Given the description of an element on the screen output the (x, y) to click on. 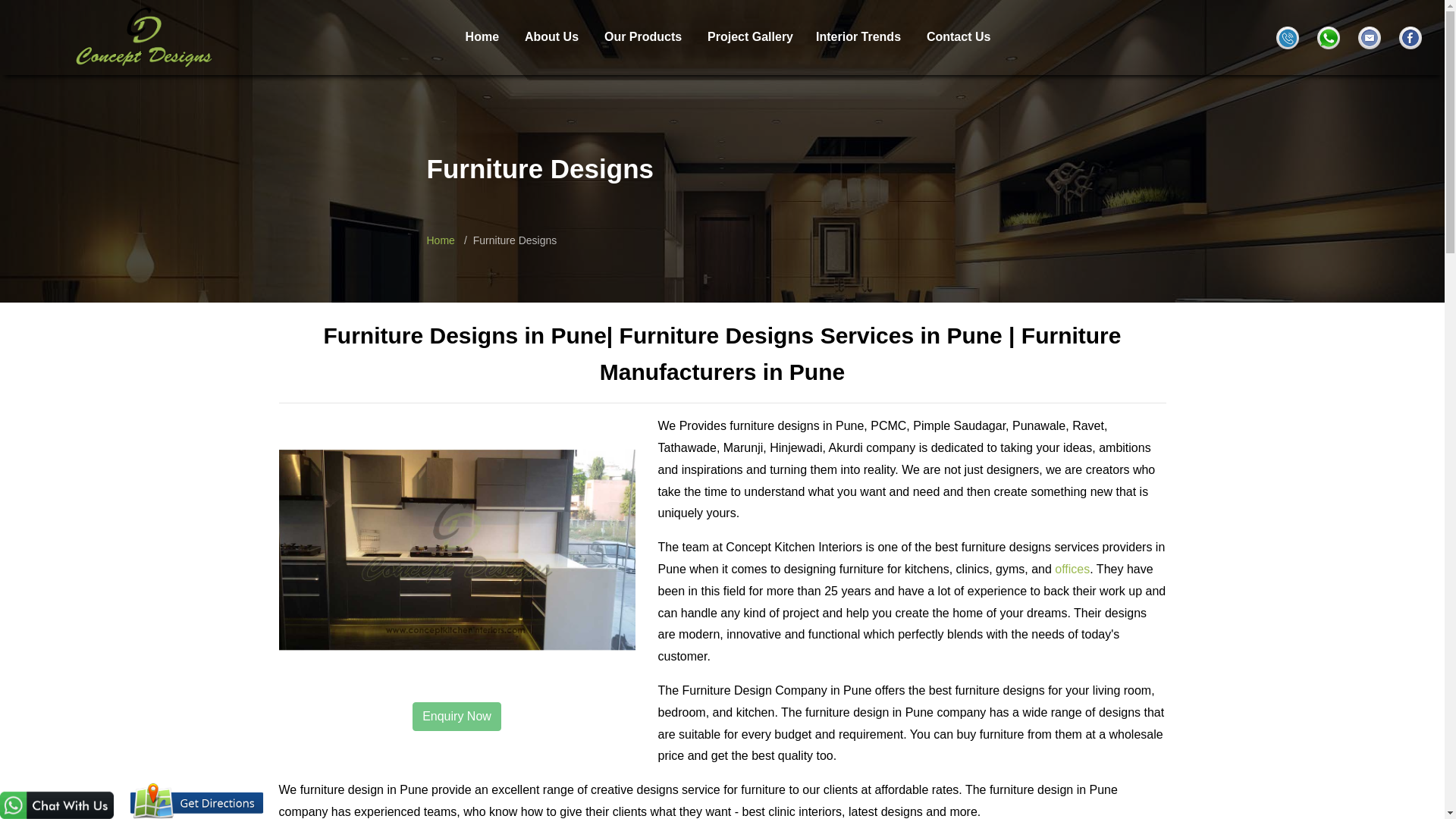
Interior Trends (858, 36)
About Us (551, 36)
Our Products (642, 36)
Contact Us (958, 36)
Project Gallery (750, 36)
